Given the description of an element on the screen output the (x, y) to click on. 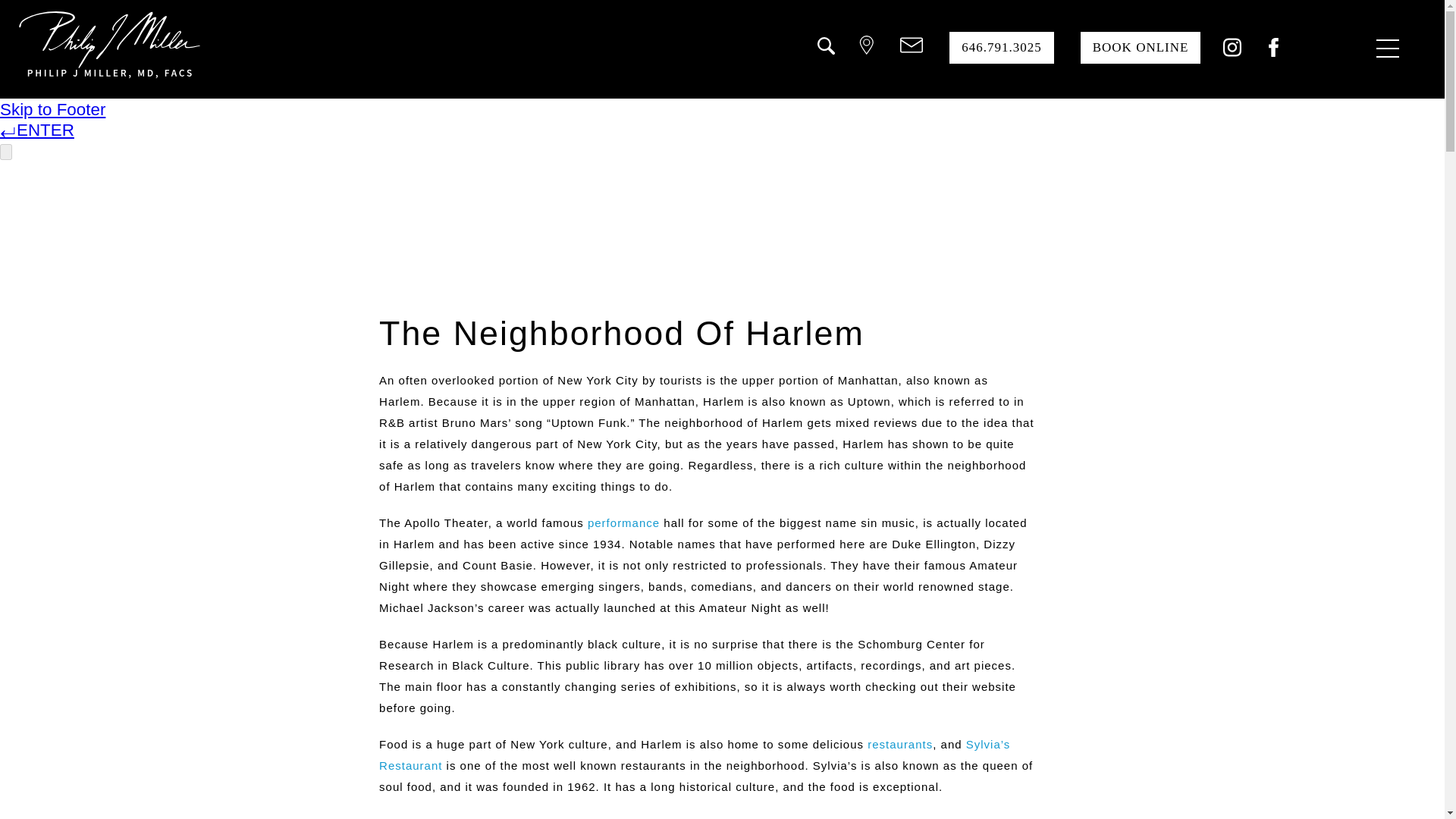
Email (911, 47)
BOOK ONLINE (1140, 47)
646.791.3025 (1001, 47)
646.791.3025 (1001, 47)
Facebook (1272, 51)
Instagram (1232, 51)
YouTube (1316, 51)
Book Online (1140, 47)
